Given the description of an element on the screen output the (x, y) to click on. 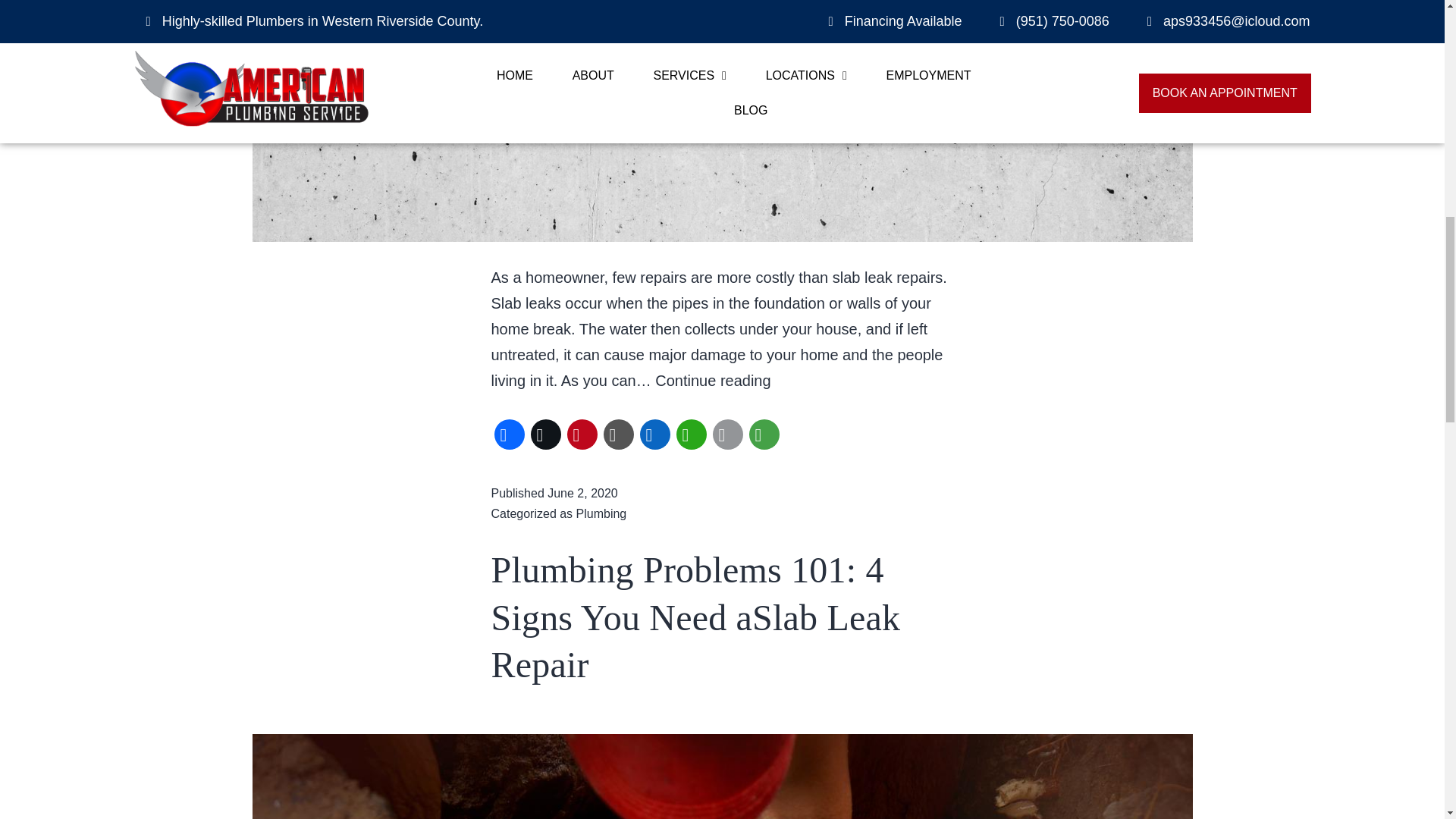
Pinterest (581, 434)
Copy Link (618, 434)
WhatsApp (691, 434)
LinkedIn (654, 434)
More Options (764, 434)
Email This (727, 434)
Facebook (509, 434)
